Given the description of an element on the screen output the (x, y) to click on. 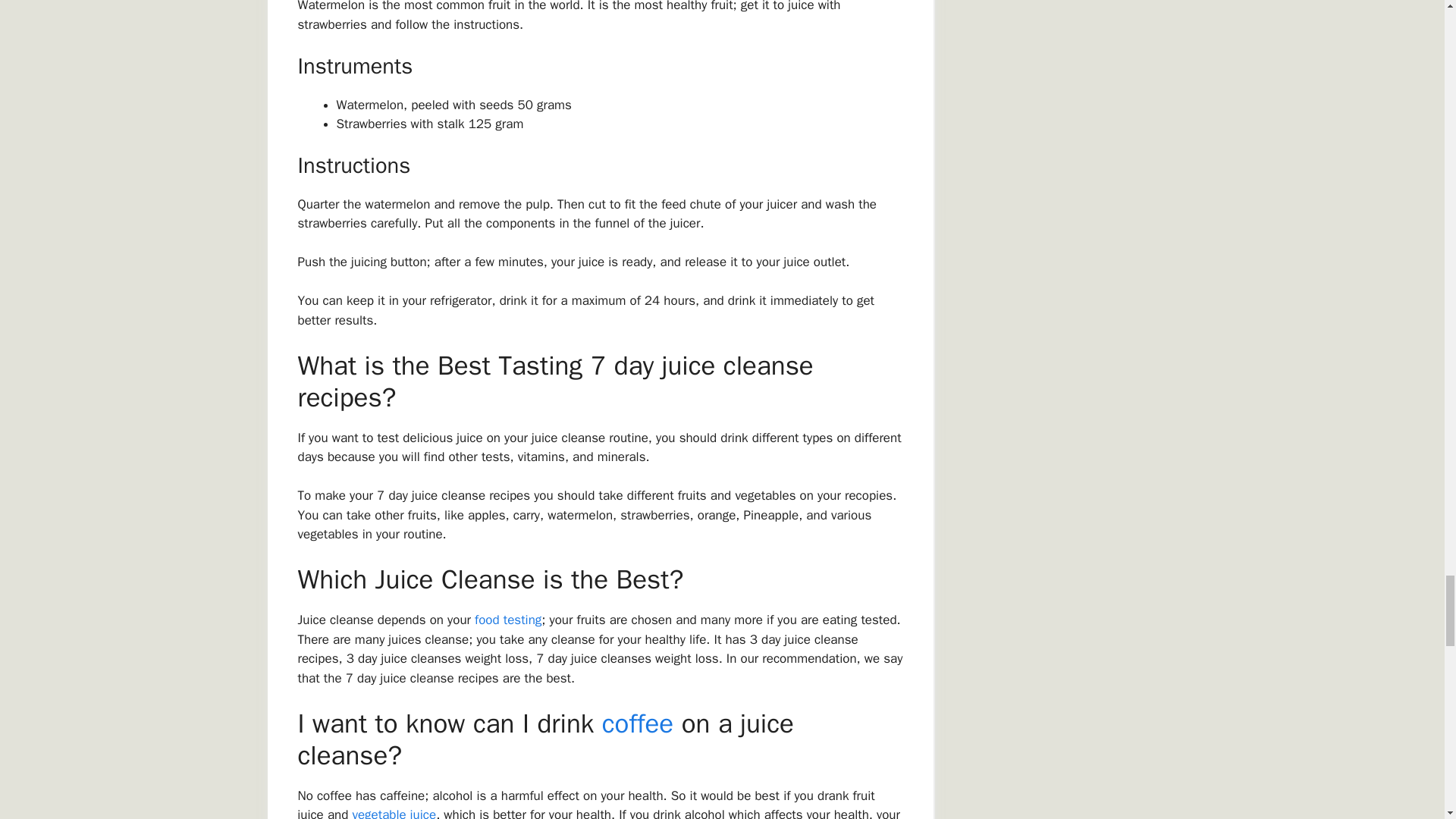
vegetable juice (393, 812)
food testing (507, 619)
coffee (637, 723)
